Given the description of an element on the screen output the (x, y) to click on. 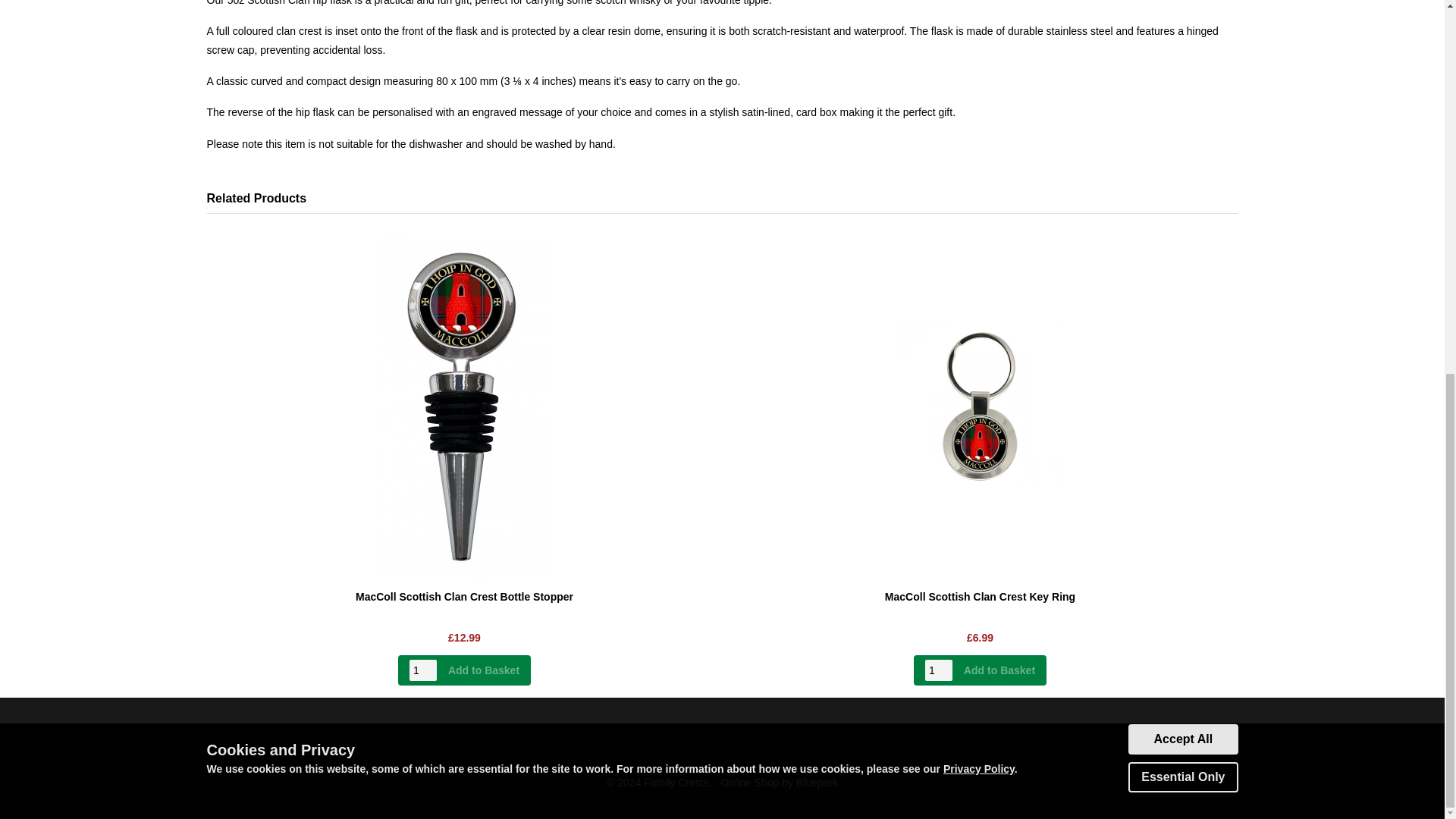
1 (422, 670)
1 (938, 670)
